Given the description of an element on the screen output the (x, y) to click on. 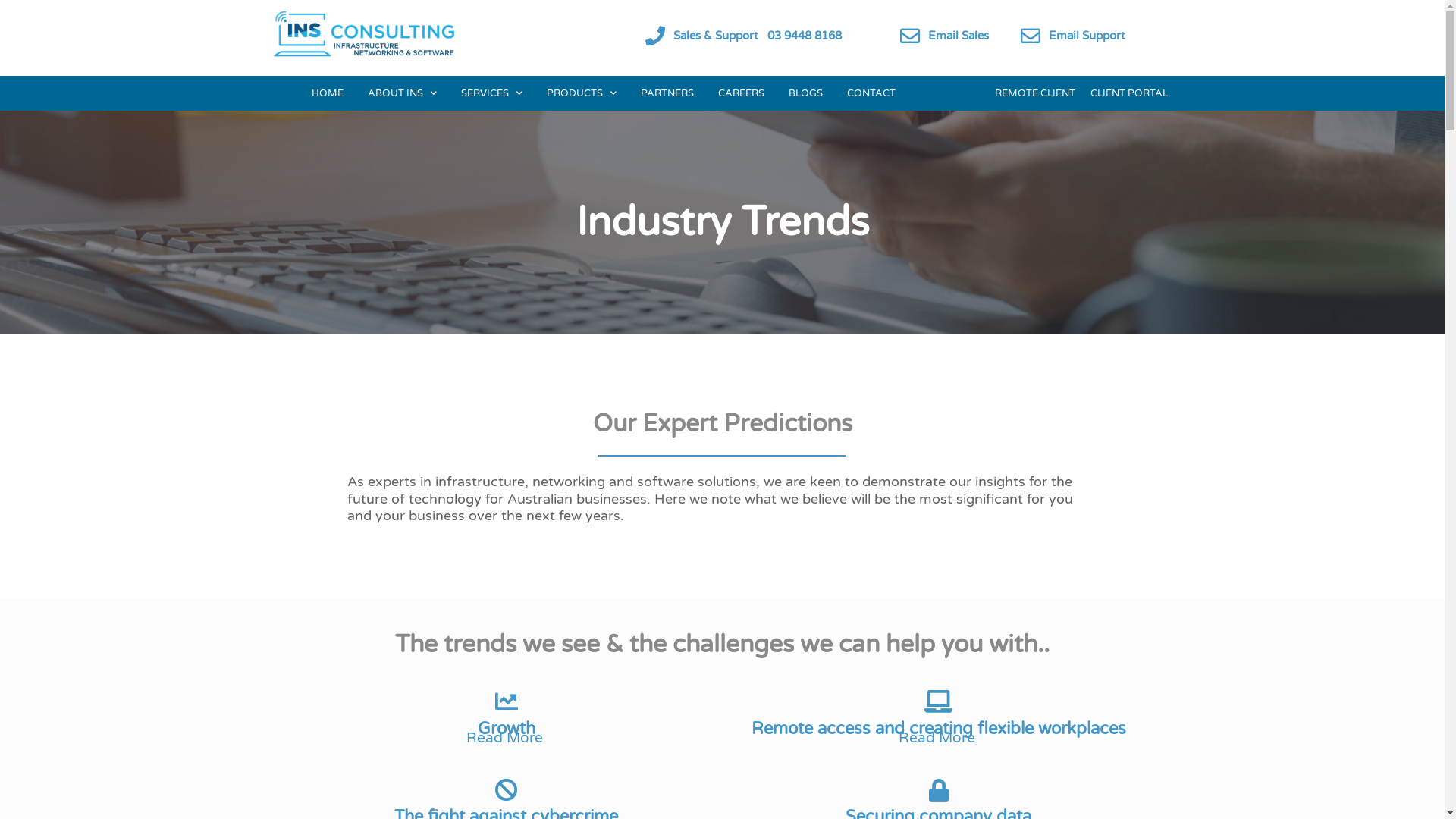
Sales & Support   03 9448 8168 Element type: text (757, 35)
Email Sales Element type: text (958, 35)
SERVICES Element type: text (491, 92)
CAREERS Element type: text (741, 92)
Email Support Element type: text (1086, 35)
Read More Element type: text (937, 737)
REMOTE CLIENT Element type: text (1034, 92)
BLOGS Element type: text (805, 92)
HOME Element type: text (327, 92)
ABOUT INS Element type: text (401, 92)
Read More Element type: text (505, 737)
PRODUCTS Element type: text (581, 92)
PARTNERS Element type: text (667, 92)
CONTACT Element type: text (870, 92)
CLIENT PORTAL Element type: text (1128, 92)
